Given the description of an element on the screen output the (x, y) to click on. 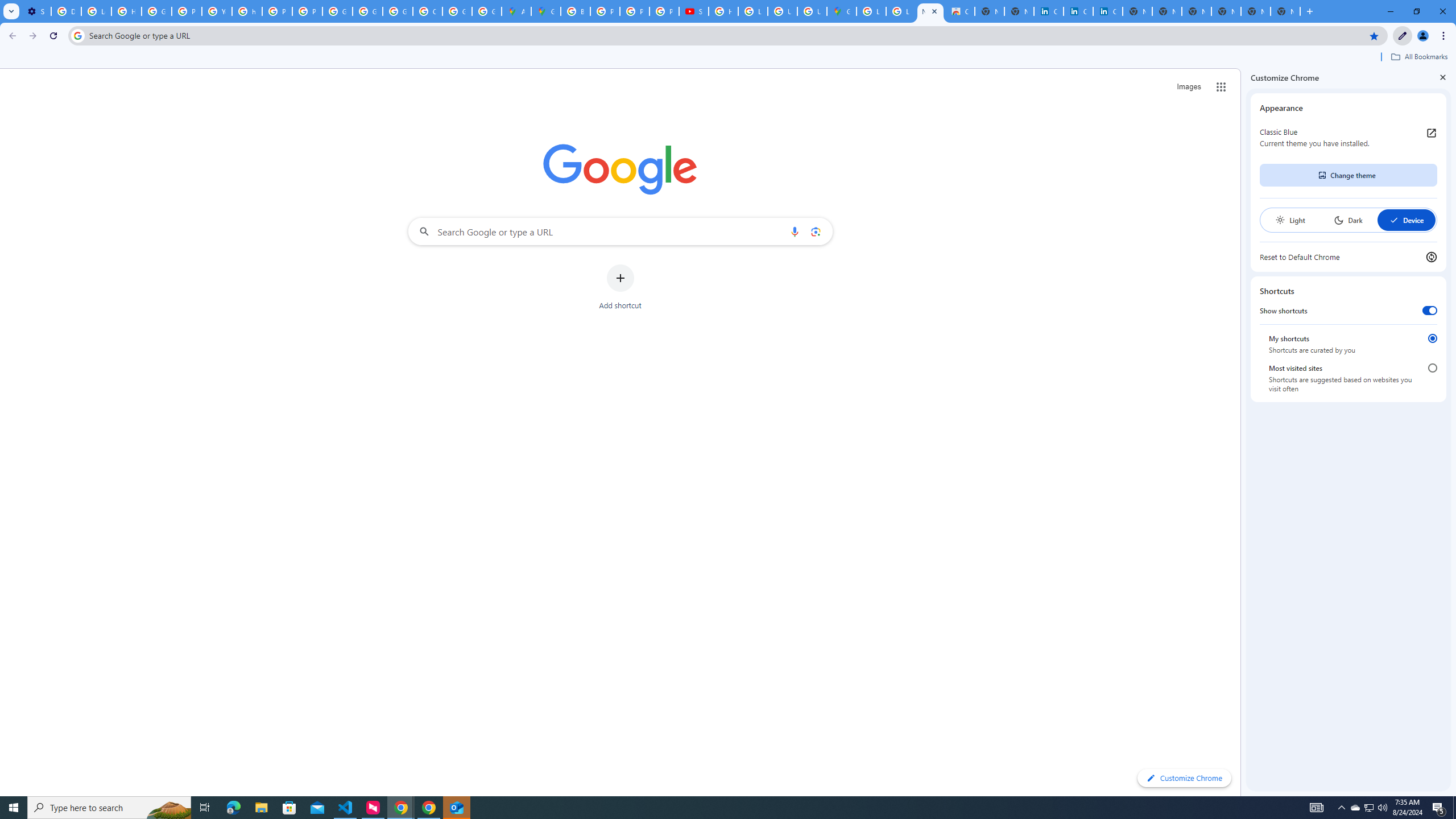
Side Panel Resize Handle (1242, 431)
Dark (1348, 219)
Reset to Default Chrome (1347, 256)
Privacy Help Center - Policies Help (634, 11)
Most visited sites (1432, 367)
Delete photos & videos - Computer - Google Photos Help (65, 11)
